Given the description of an element on the screen output the (x, y) to click on. 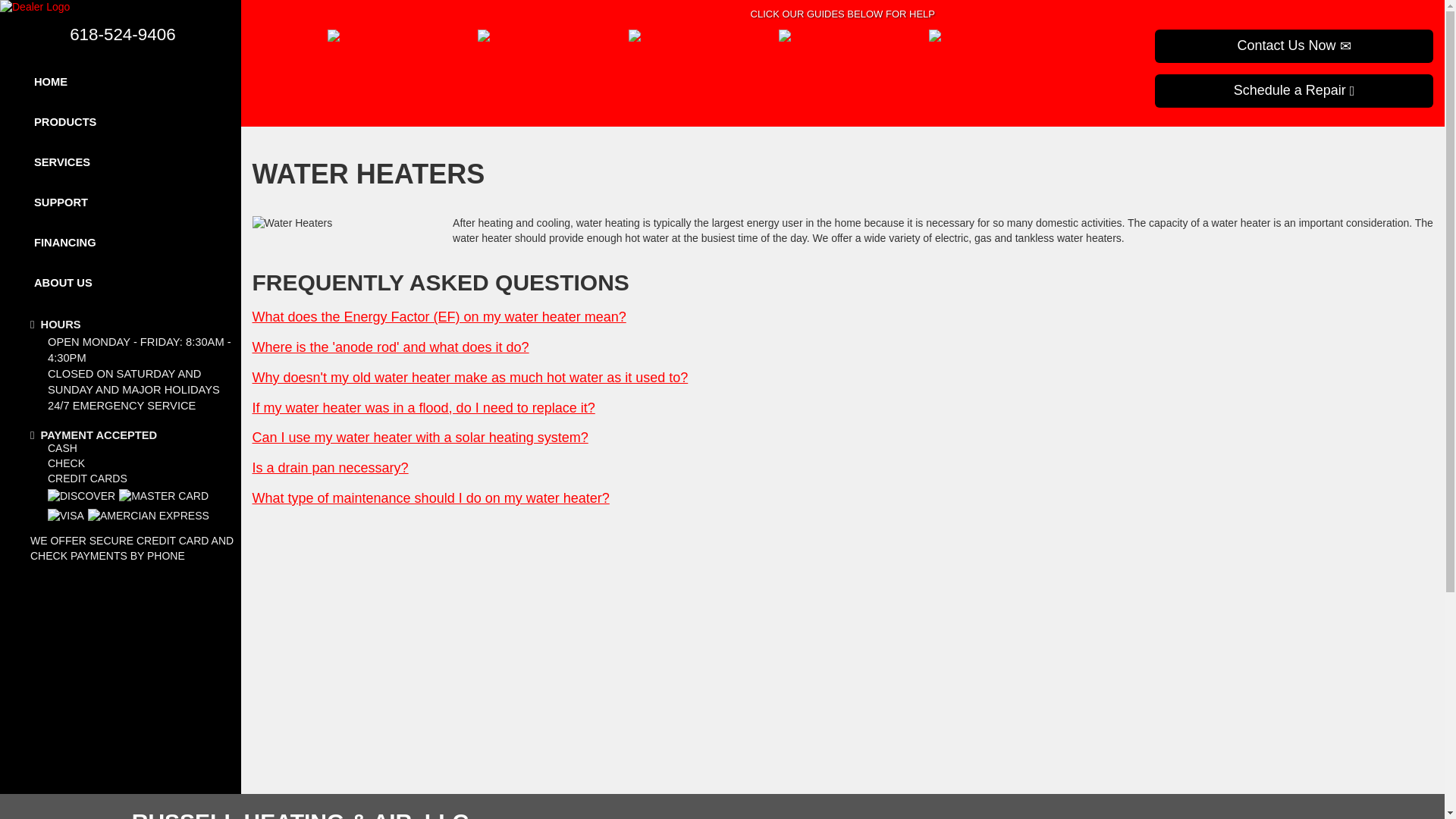
PRODUCTS (120, 122)
HOME (120, 82)
618-524-9406 (121, 34)
